Given the description of an element on the screen output the (x, y) to click on. 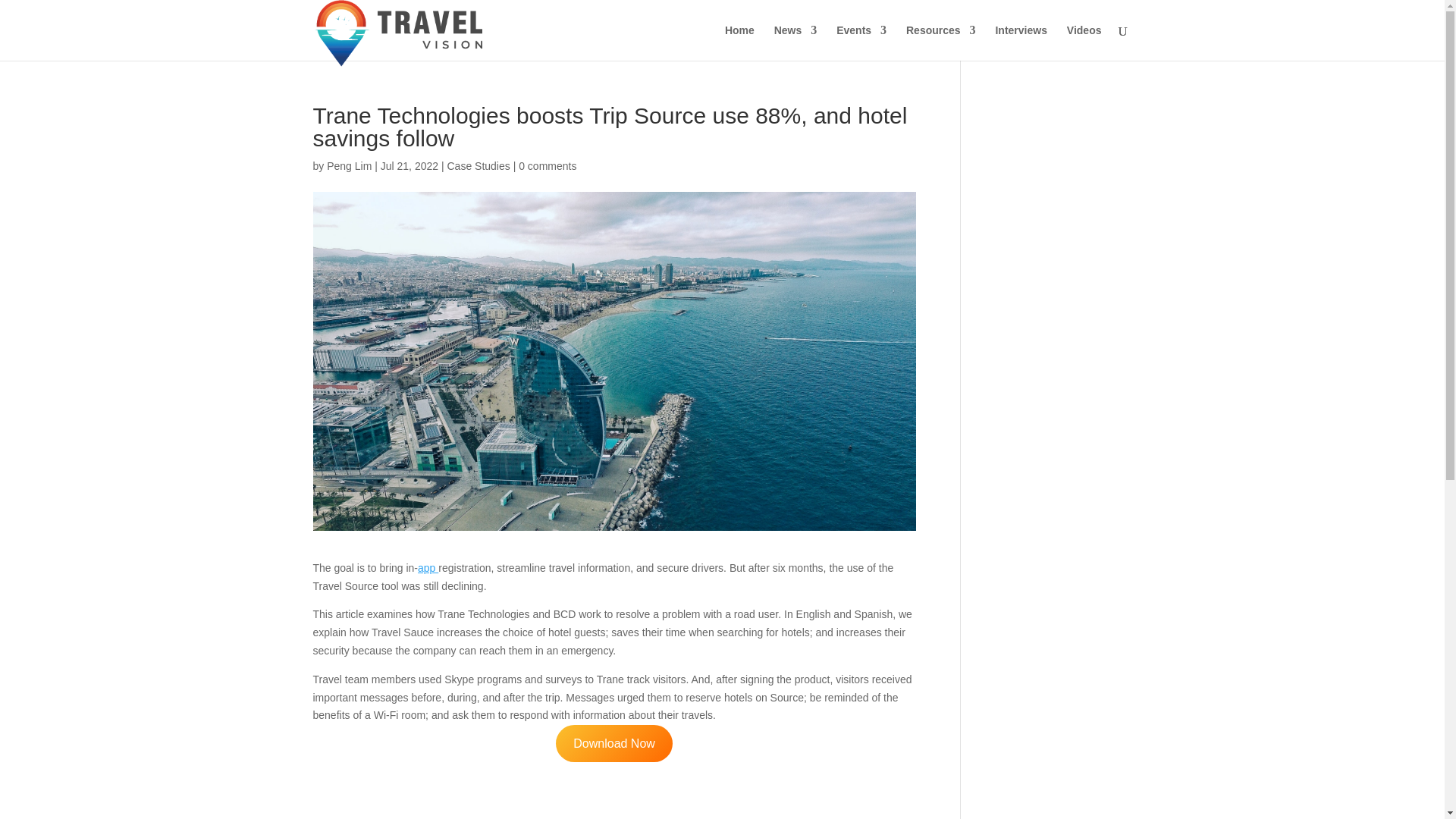
Posts by Peng Lim (348, 165)
Videos (1084, 42)
Download Now (614, 743)
0 comments (547, 165)
Peng Lim (348, 165)
Interviews (1020, 42)
app (427, 567)
News (795, 42)
Events (860, 42)
Case Studies (477, 165)
Resources (940, 42)
